Given the description of an element on the screen output the (x, y) to click on. 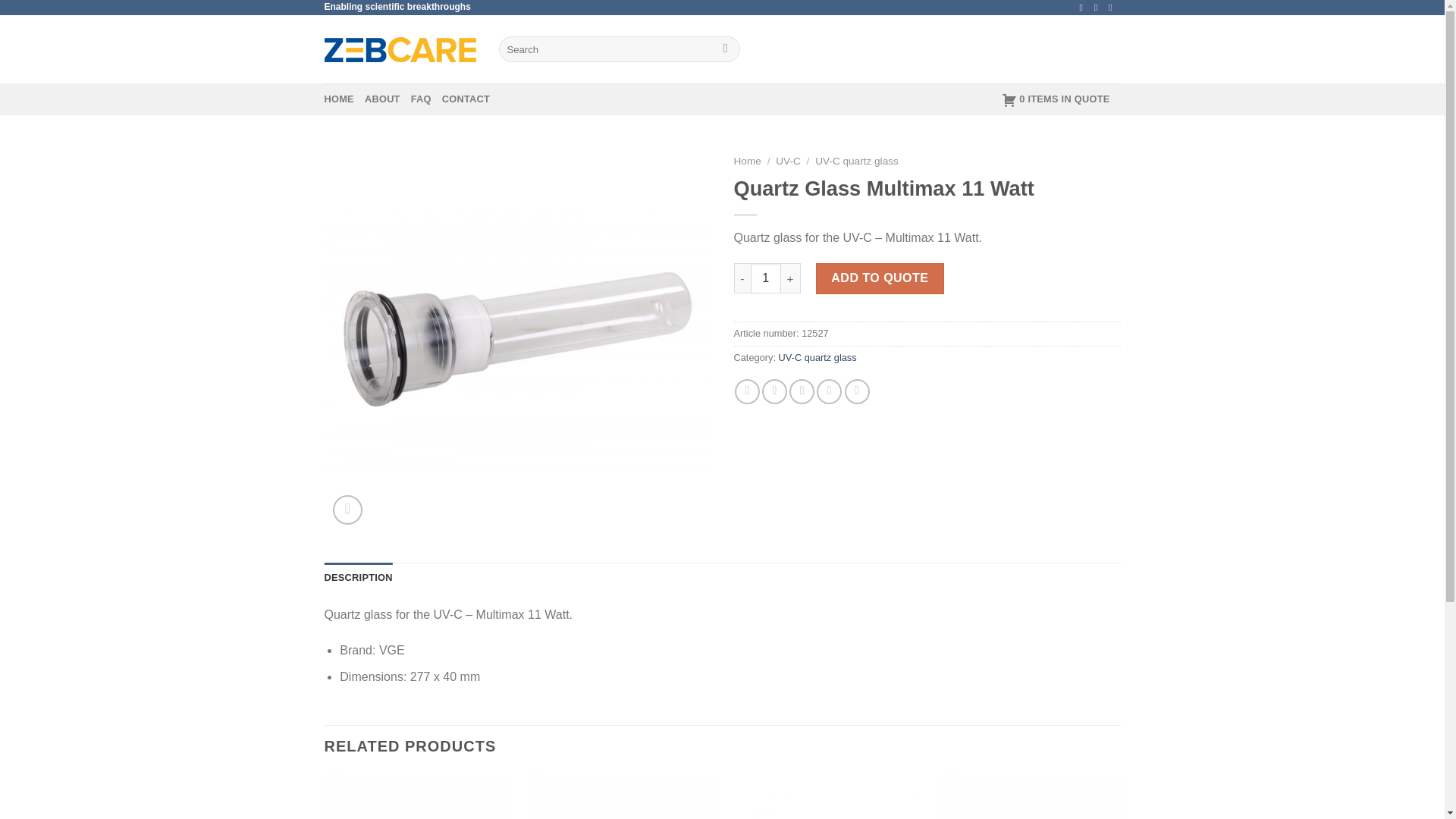
Follow on LinkedIn (1113, 7)
View Quote (1055, 99)
Share on Facebook (747, 391)
ZEBCARE - webshop of ZEBCARE (400, 48)
UV-C quartz glass (817, 357)
1 (765, 277)
Share on Twitter (774, 391)
Search (725, 49)
Pin on Pinterest (828, 391)
Home (747, 161)
Call us (1098, 7)
UV-C (787, 161)
CONTACT (465, 99)
0 ITEMS IN QUOTE (1055, 99)
FAQ (420, 99)
